Given the description of an element on the screen output the (x, y) to click on. 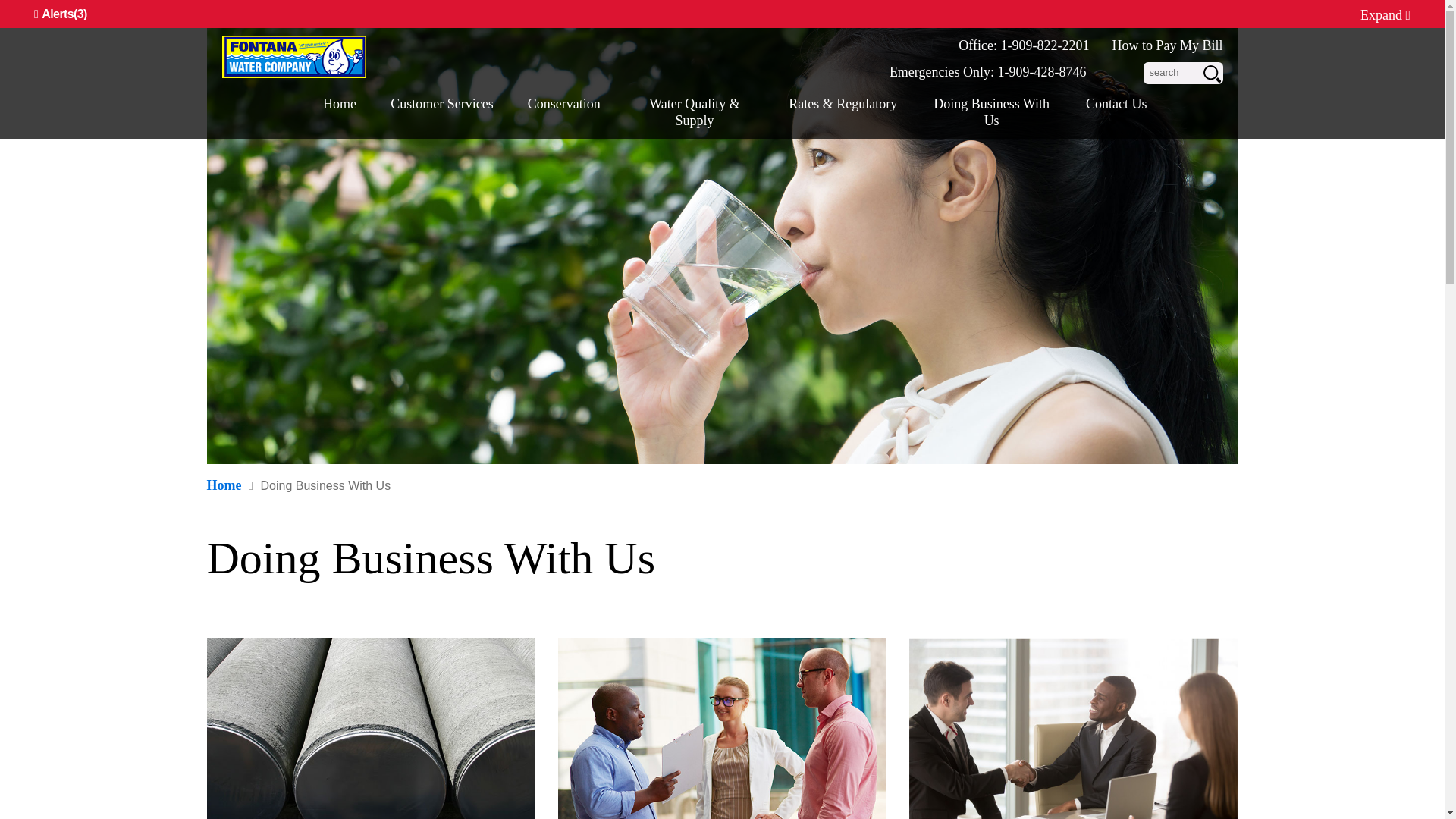
How to Pay My Bill (1167, 45)
Conservation (563, 111)
Expand (1384, 14)
Customer Services (441, 111)
Home (339, 111)
